Given the description of an element on the screen output the (x, y) to click on. 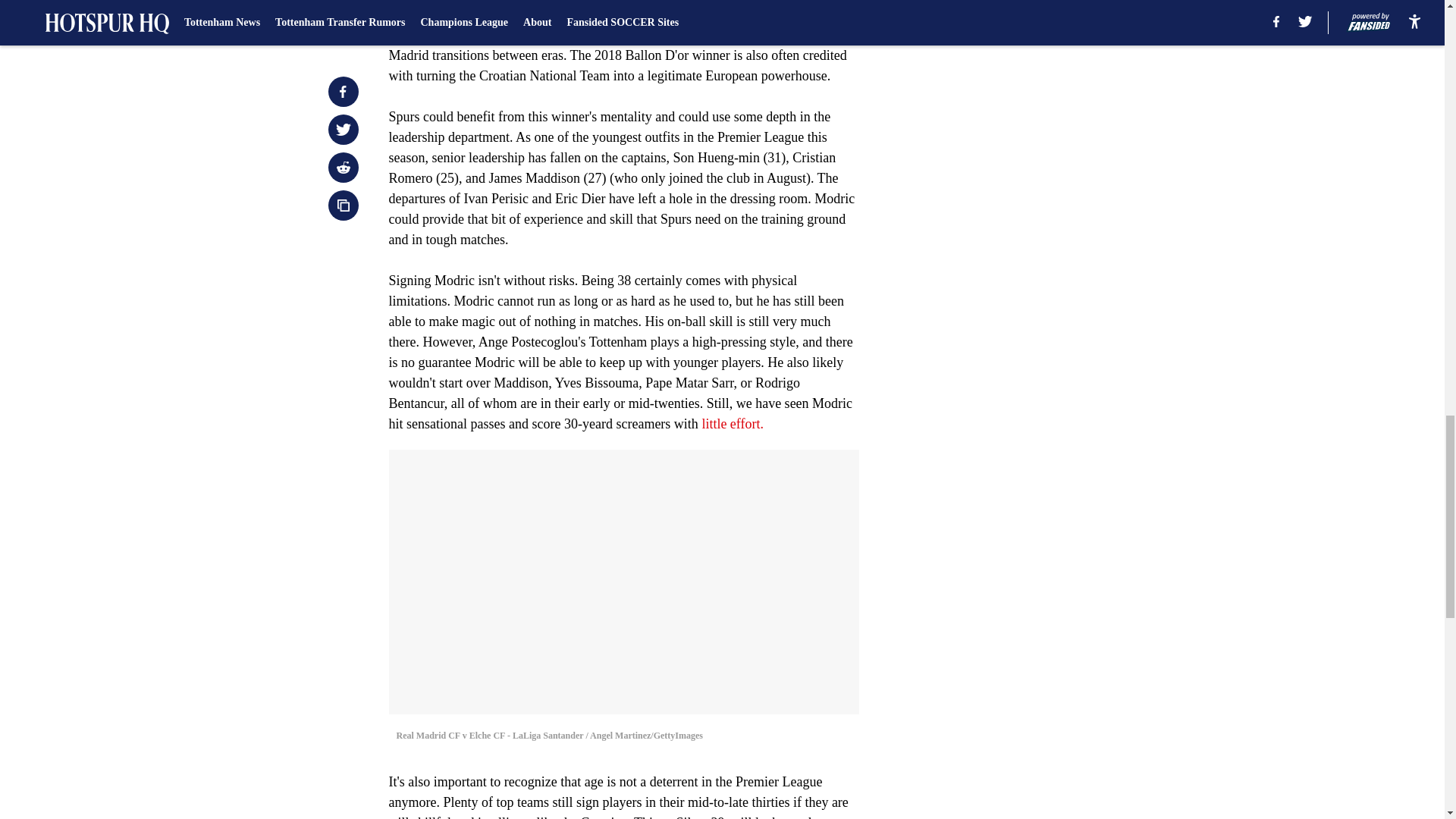
little effort. (731, 423)
